Given the description of an element on the screen output the (x, y) to click on. 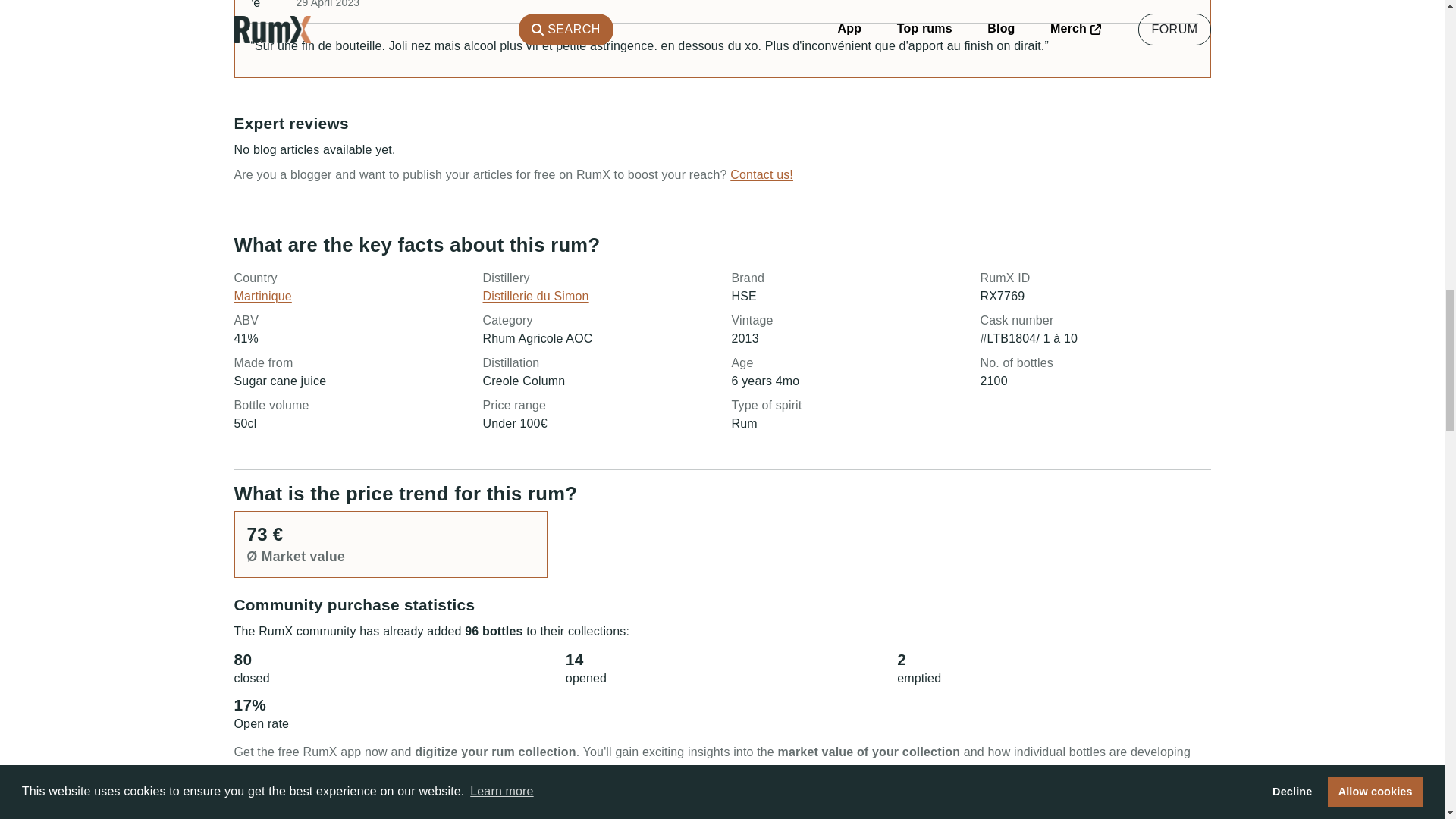
Martinique (261, 295)
Contact us! (761, 174)
Distillerie du Simon (534, 295)
